Given the description of an element on the screen output the (x, y) to click on. 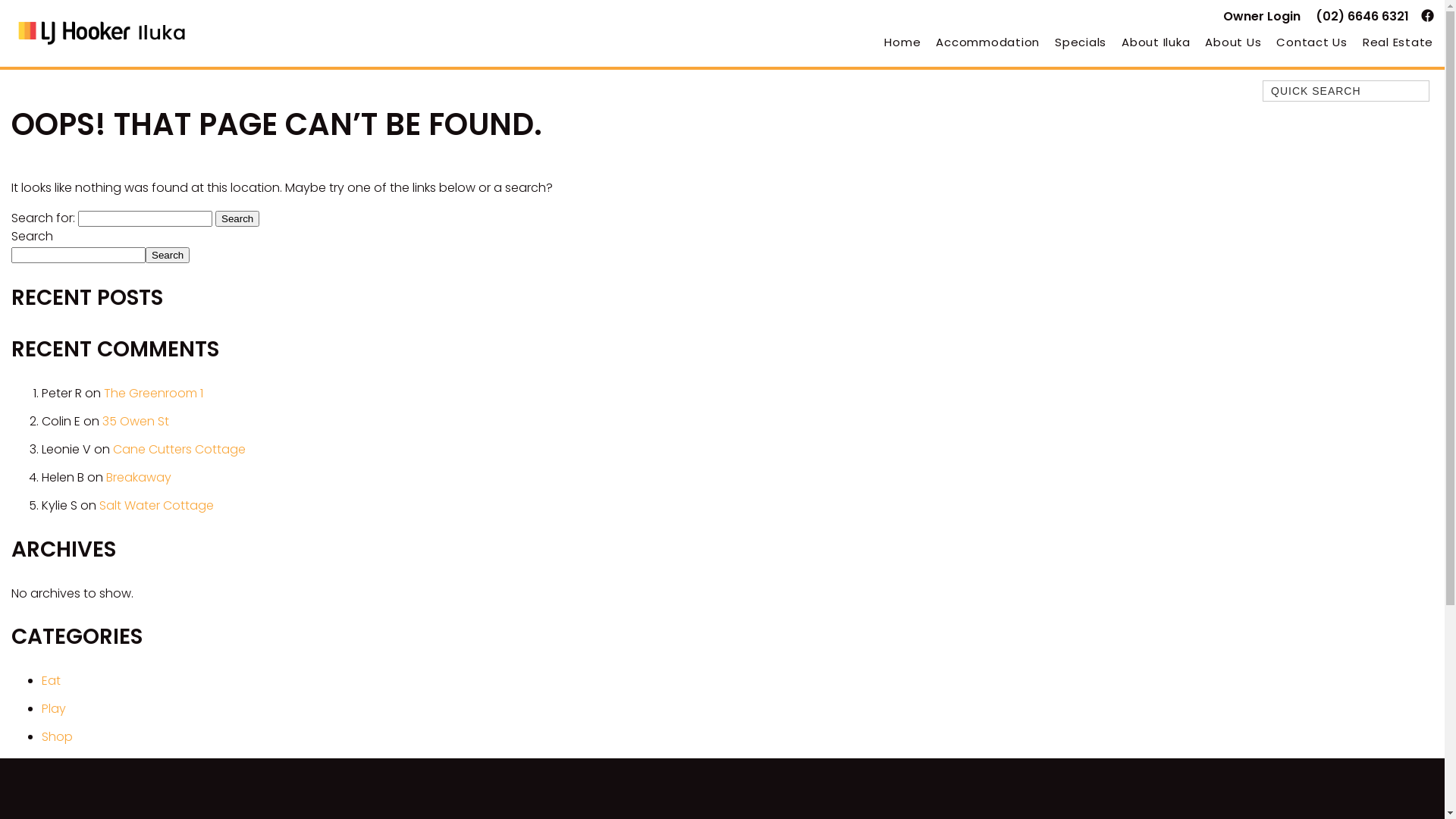
(02) 6646 6321 Element type: text (1361, 16)
Breakaway Element type: text (138, 477)
Real Estate Element type: text (1394, 42)
Home Element type: text (902, 42)
Search Element type: text (167, 255)
The Greenroom 1 Element type: text (153, 392)
Search Element type: text (237, 218)
Owner Login Element type: text (1261, 16)
Cane Cutters Cottage Element type: text (178, 449)
Accommodation Element type: text (987, 42)
About Iluka Element type: text (1155, 42)
Specials Element type: text (1080, 42)
About Us Element type: text (1232, 42)
Salt Water Cottage Element type: text (156, 505)
Contact Us Element type: text (1311, 42)
Shop Element type: text (56, 736)
Eat Element type: text (50, 680)
Play Element type: text (53, 708)
35 Owen St Element type: text (135, 420)
